Given the description of an element on the screen output the (x, y) to click on. 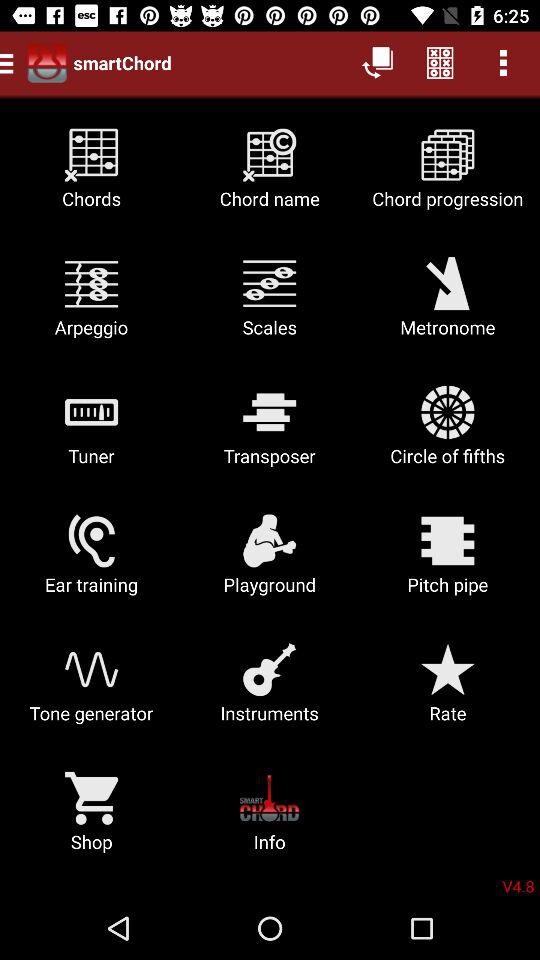
turn off the transposer (269, 432)
